Given the description of an element on the screen output the (x, y) to click on. 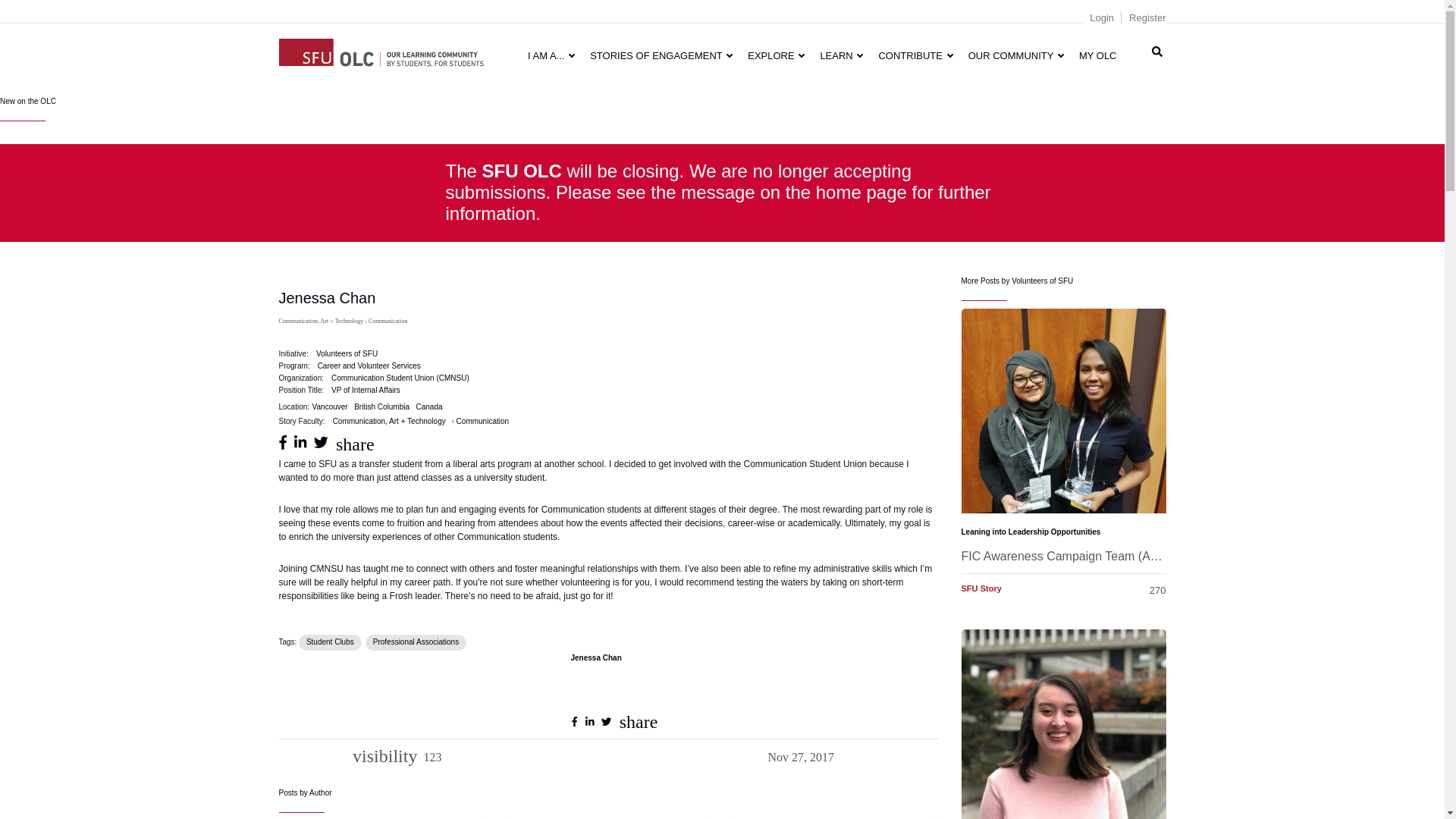
I AM A... (550, 55)
STORIES OF ENGAGEMENT (660, 55)
CONTRIBUTE (914, 55)
OUR COMMUNITY (1015, 55)
Register (1147, 17)
Login (1101, 17)
EXPLORE (775, 55)
LEARN (841, 55)
Home (381, 50)
